Given the description of an element on the screen output the (x, y) to click on. 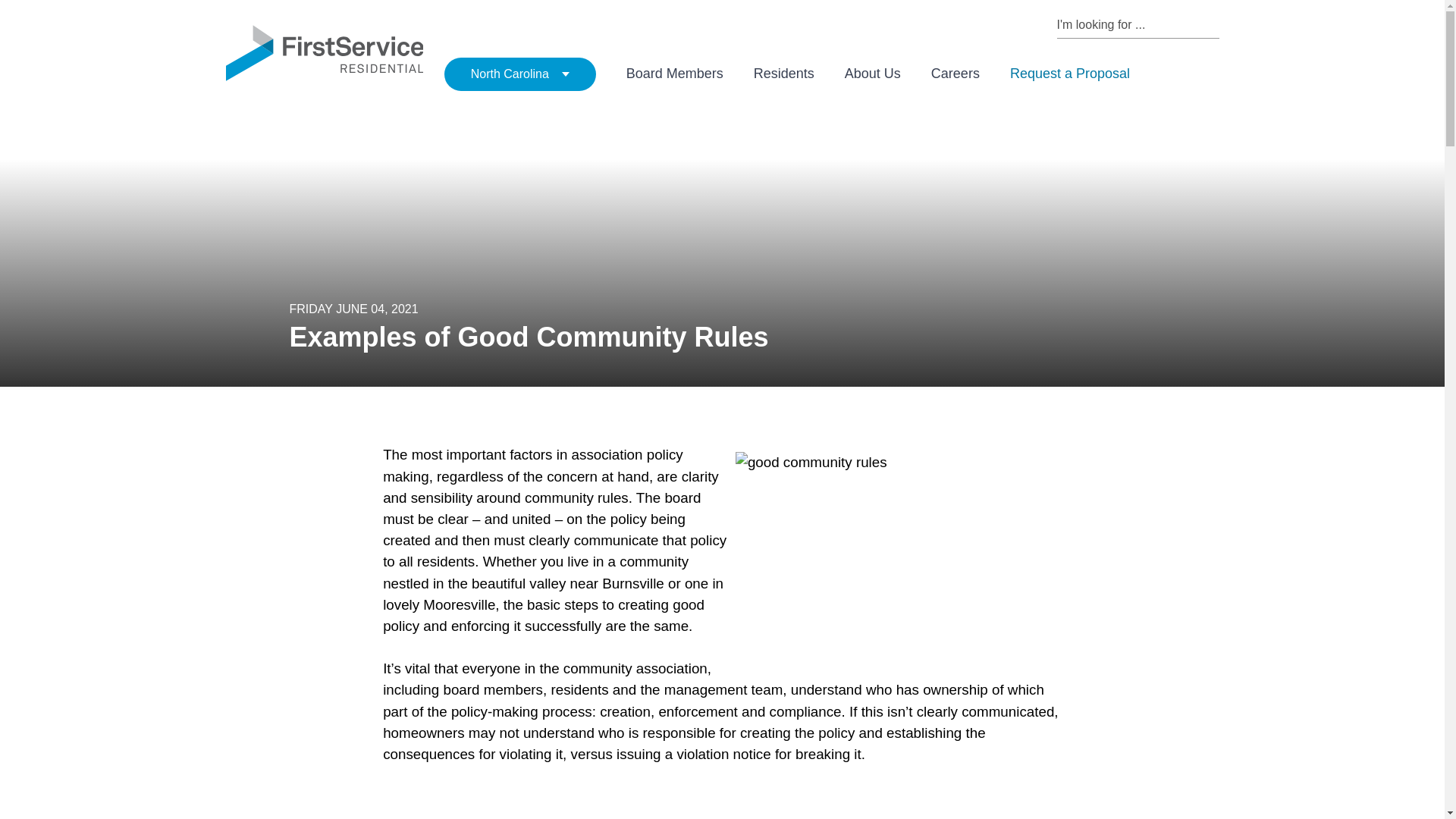
Submit search (1212, 24)
North Carolina (519, 73)
Board Members (674, 73)
YouTube video player (595, 802)
